Given the description of an element on the screen output the (x, y) to click on. 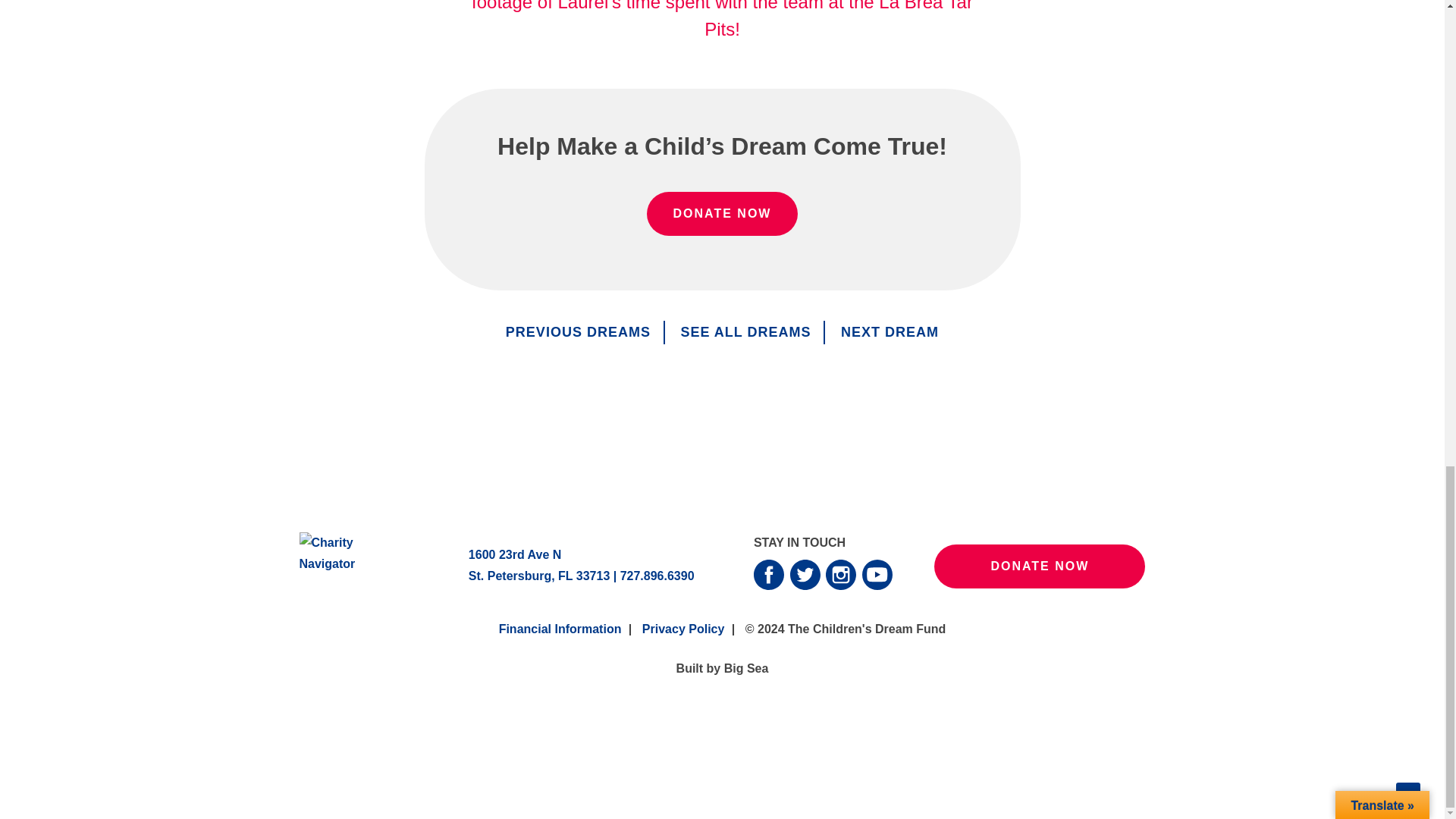
SEE ALL DREAMS (744, 331)
PREVIOUS DREAMS (577, 331)
DONATE NOW (721, 213)
727.896.6390 (657, 575)
NEXT DREAM (890, 331)
